Given the description of an element on the screen output the (x, y) to click on. 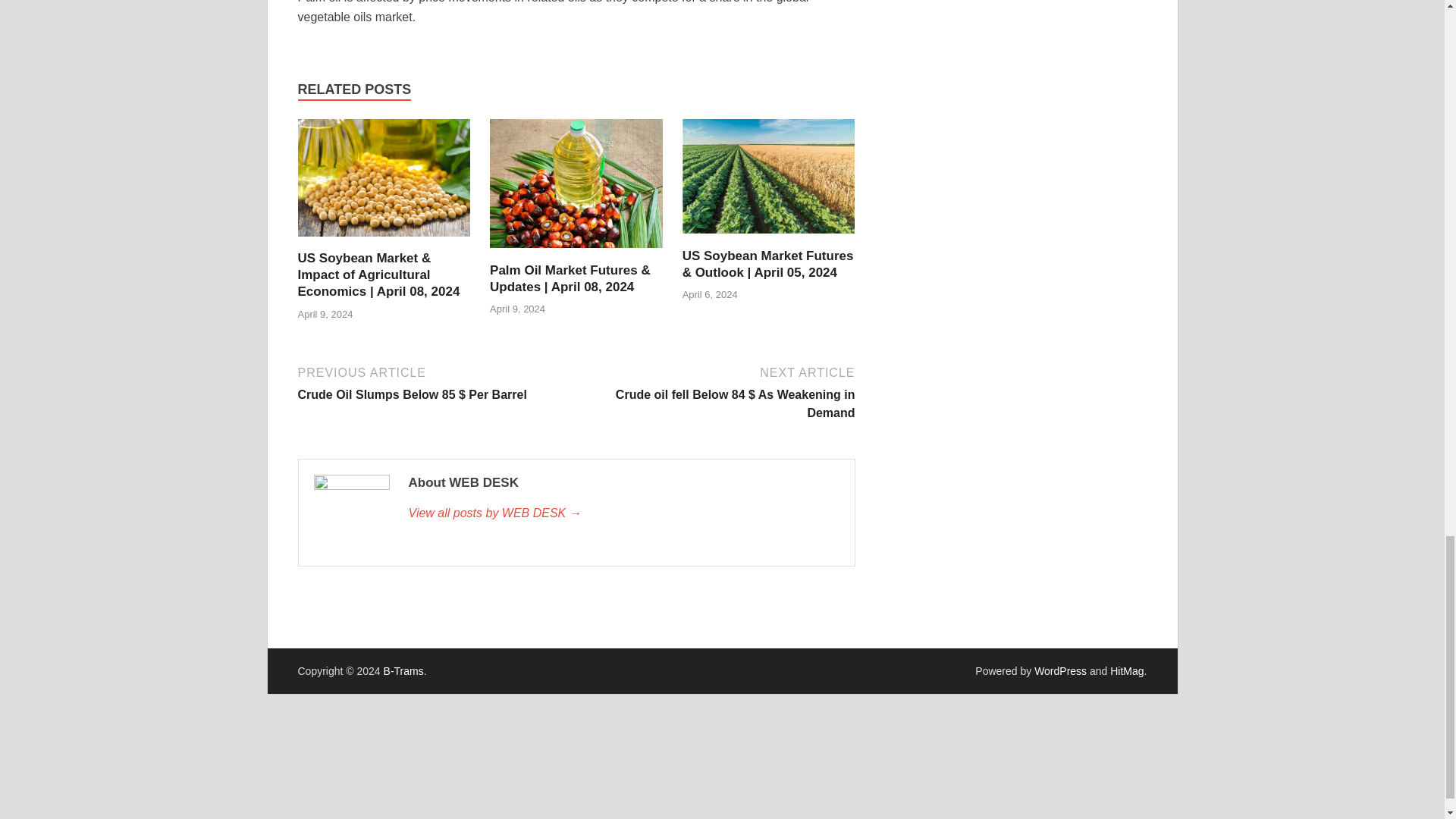
B-Trams (403, 671)
WEB DESK (622, 513)
HitMag WordPress Theme (1125, 671)
WordPress (1059, 671)
